Given the description of an element on the screen output the (x, y) to click on. 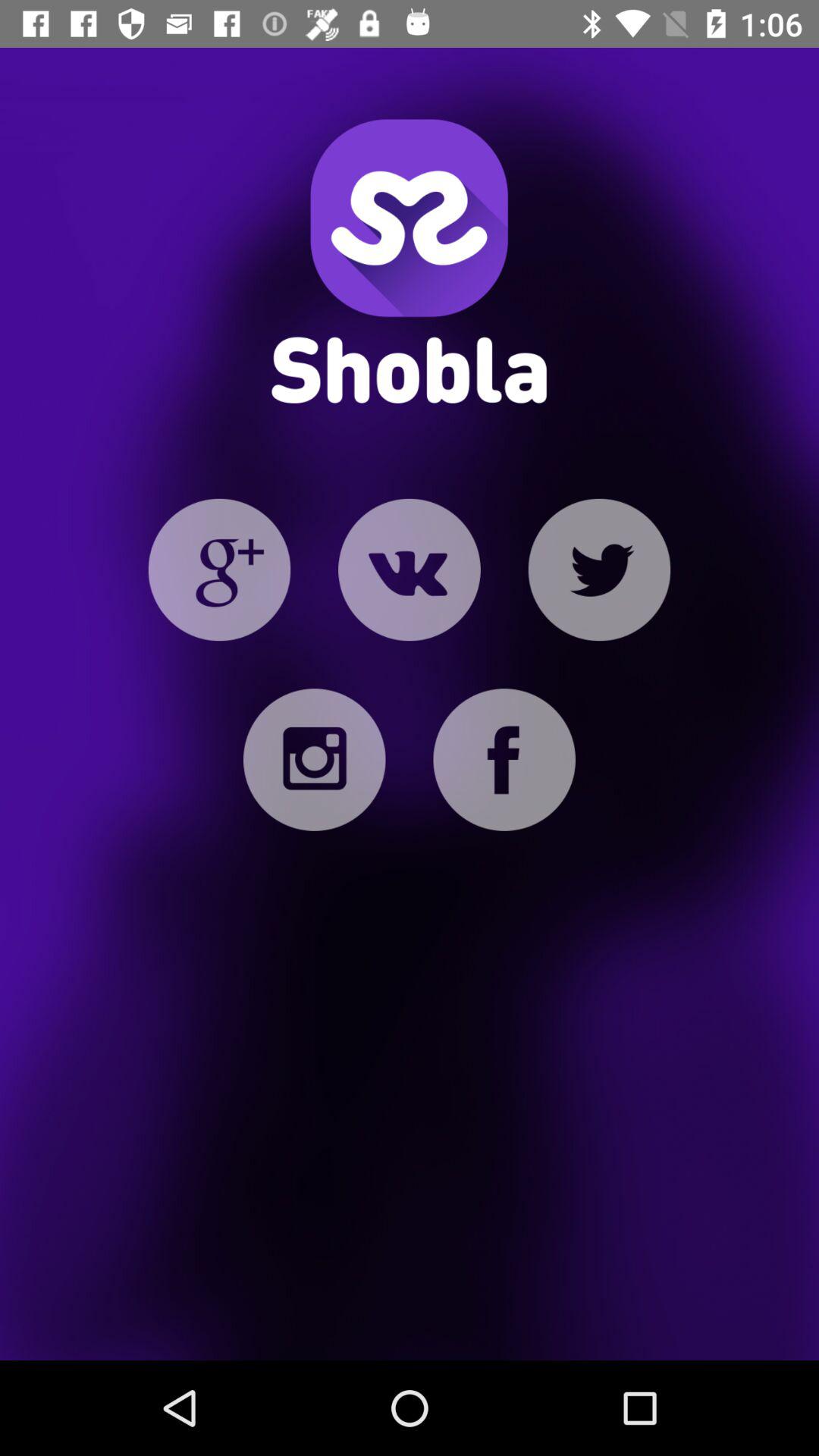
instagram button (314, 759)
